Given the description of an element on the screen output the (x, y) to click on. 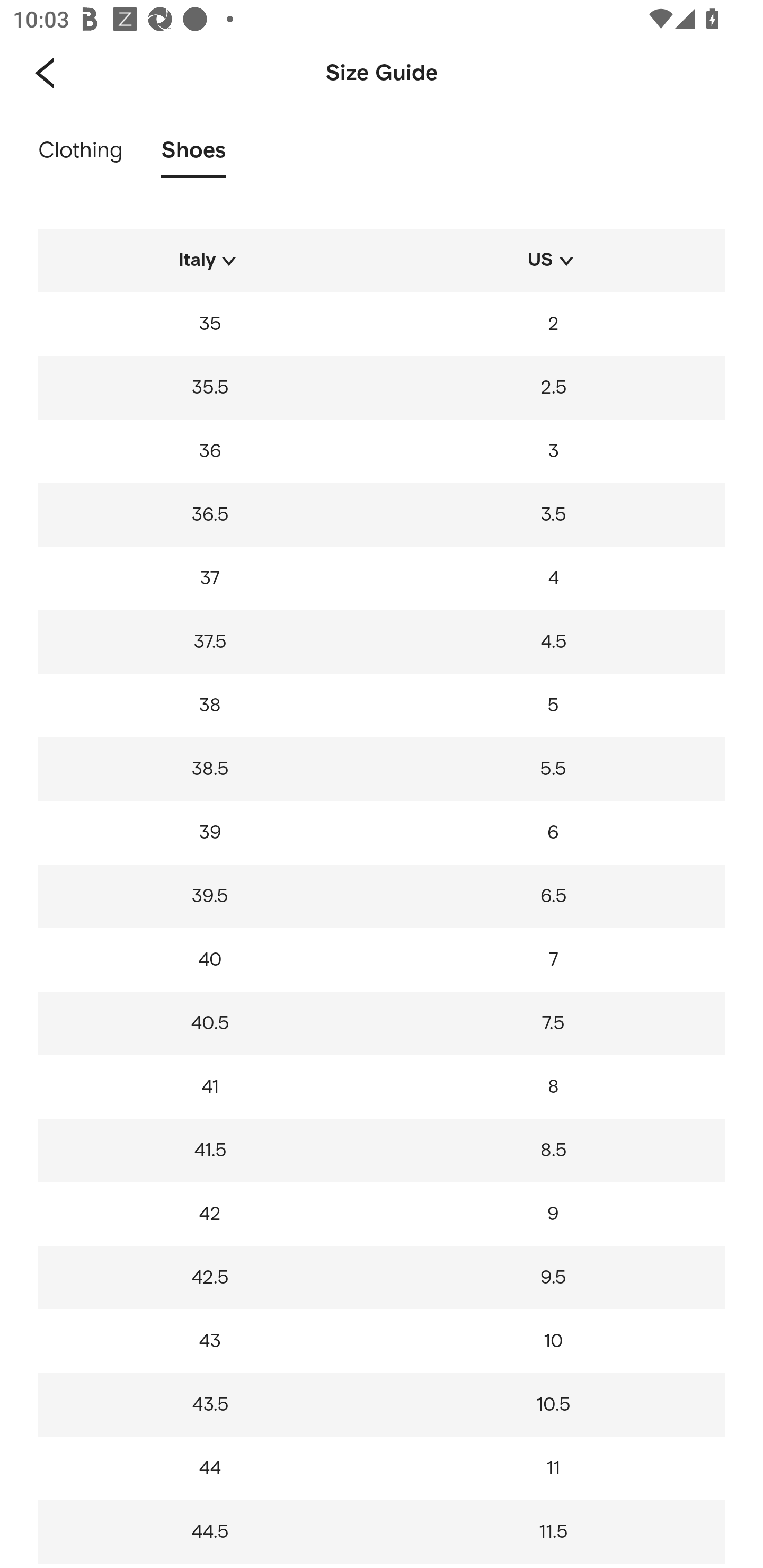
Clothing (80, 155)
Shoes (192, 155)
Italy (209, 263)
US (552, 263)
